Given the description of an element on the screen output the (x, y) to click on. 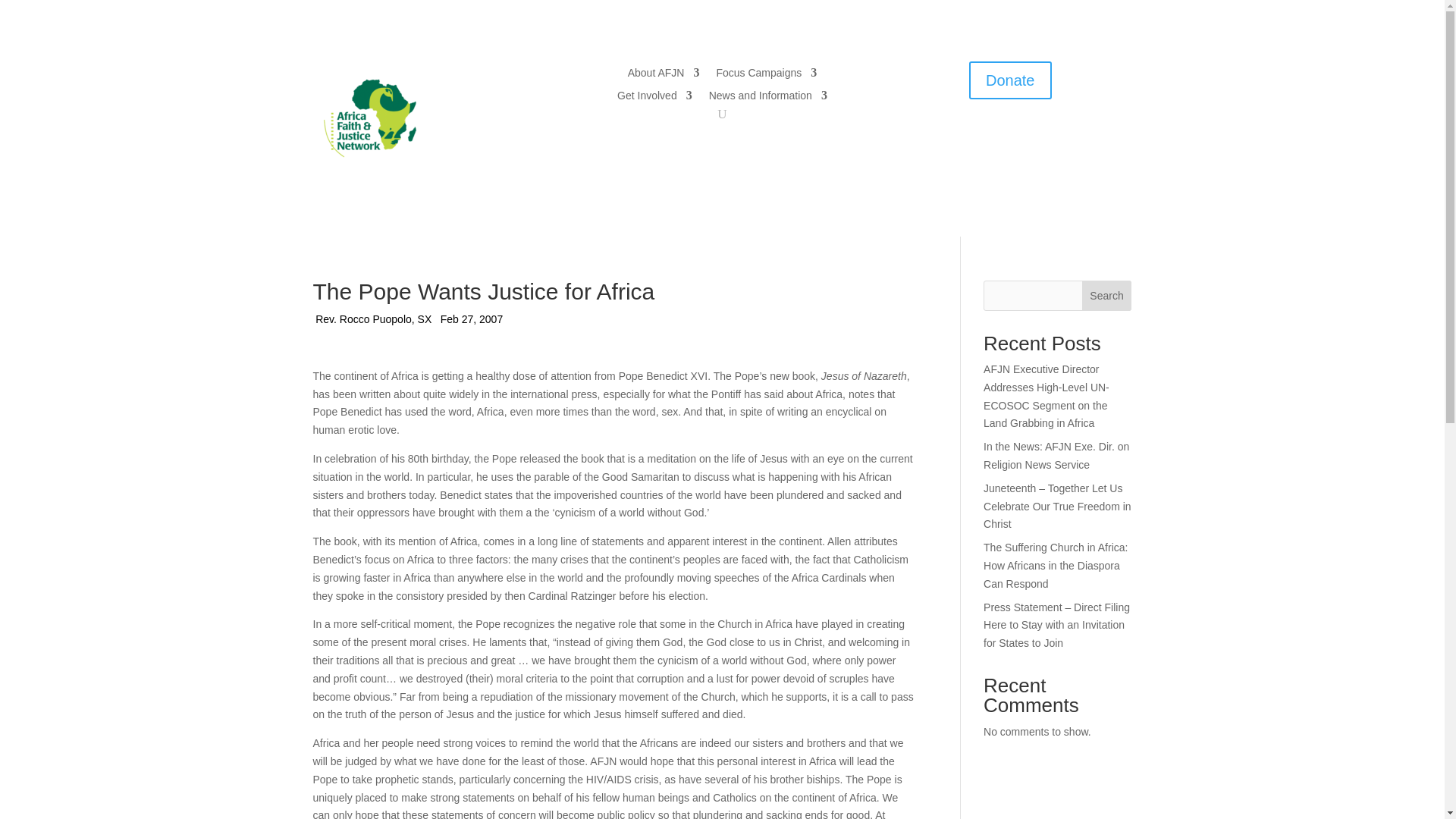
Follow on Facebook (964, 134)
AFJN Circle Logo 2 (369, 118)
Follow on Youtube (1024, 134)
Follow on LinkedIn (1055, 134)
In the News: AFJN Exe. Dir. on Religion News Service (1056, 455)
Focus Campaigns (766, 75)
News and Information (768, 98)
Posts by Rev. Rocco Puopolo, SX (372, 320)
Follow on X (994, 134)
About AFJN (663, 75)
